Given the description of an element on the screen output the (x, y) to click on. 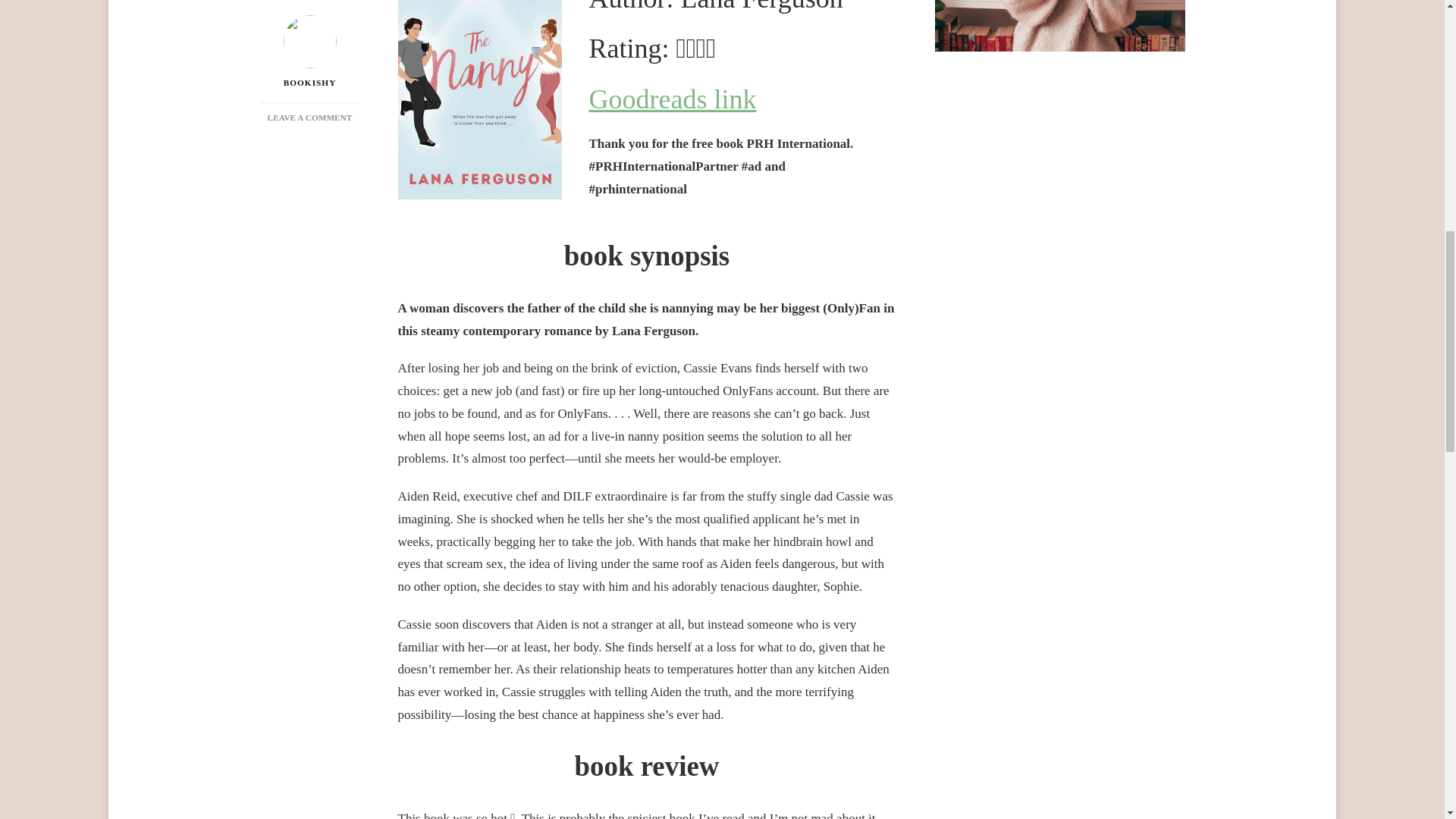
BOOKISHY (309, 2)
Goodreads link (309, 31)
